Given the description of an element on the screen output the (x, y) to click on. 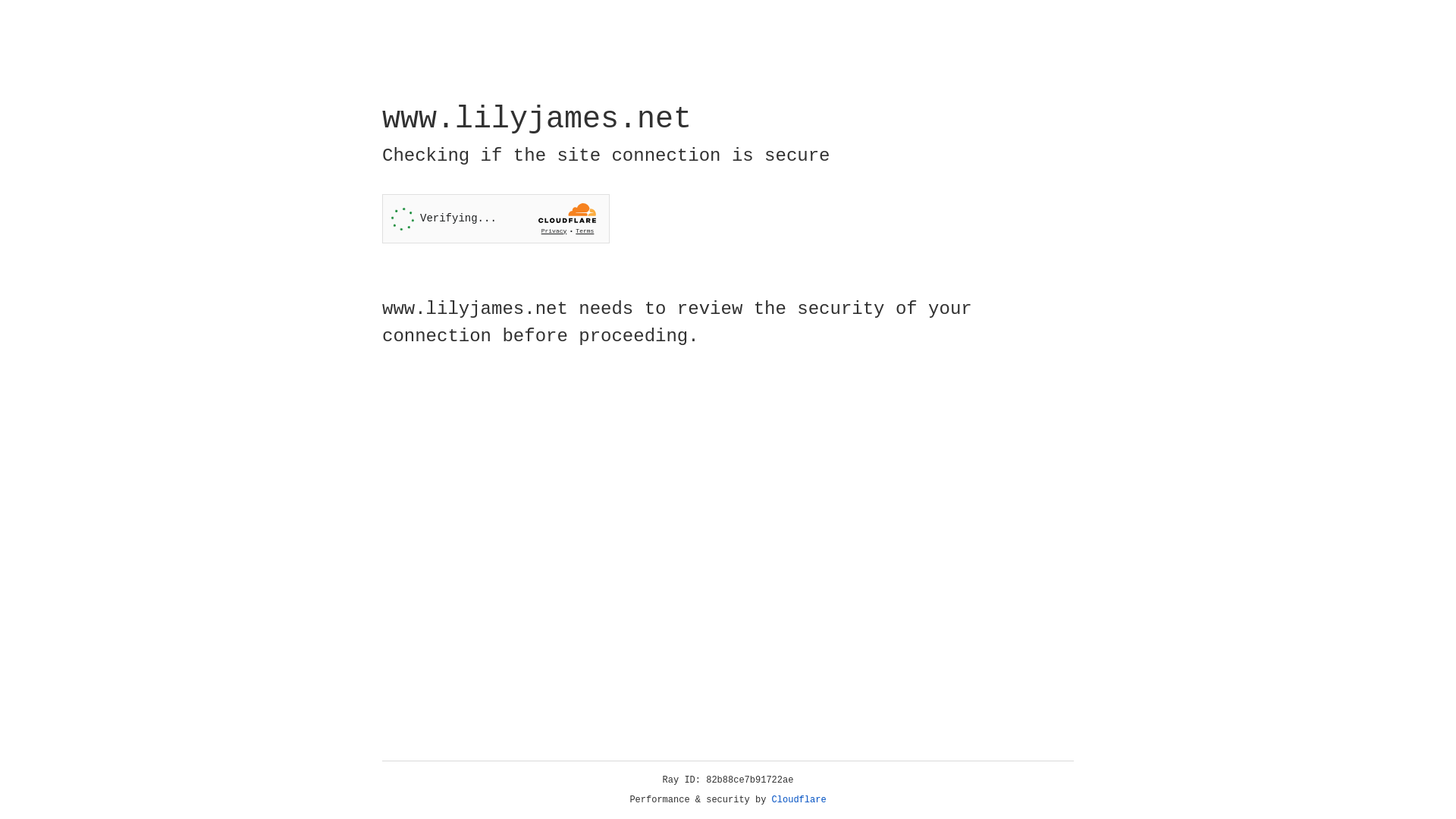
Cloudflare Element type: text (798, 799)
Widget containing a Cloudflare security challenge Element type: hover (495, 218)
